Given the description of an element on the screen output the (x, y) to click on. 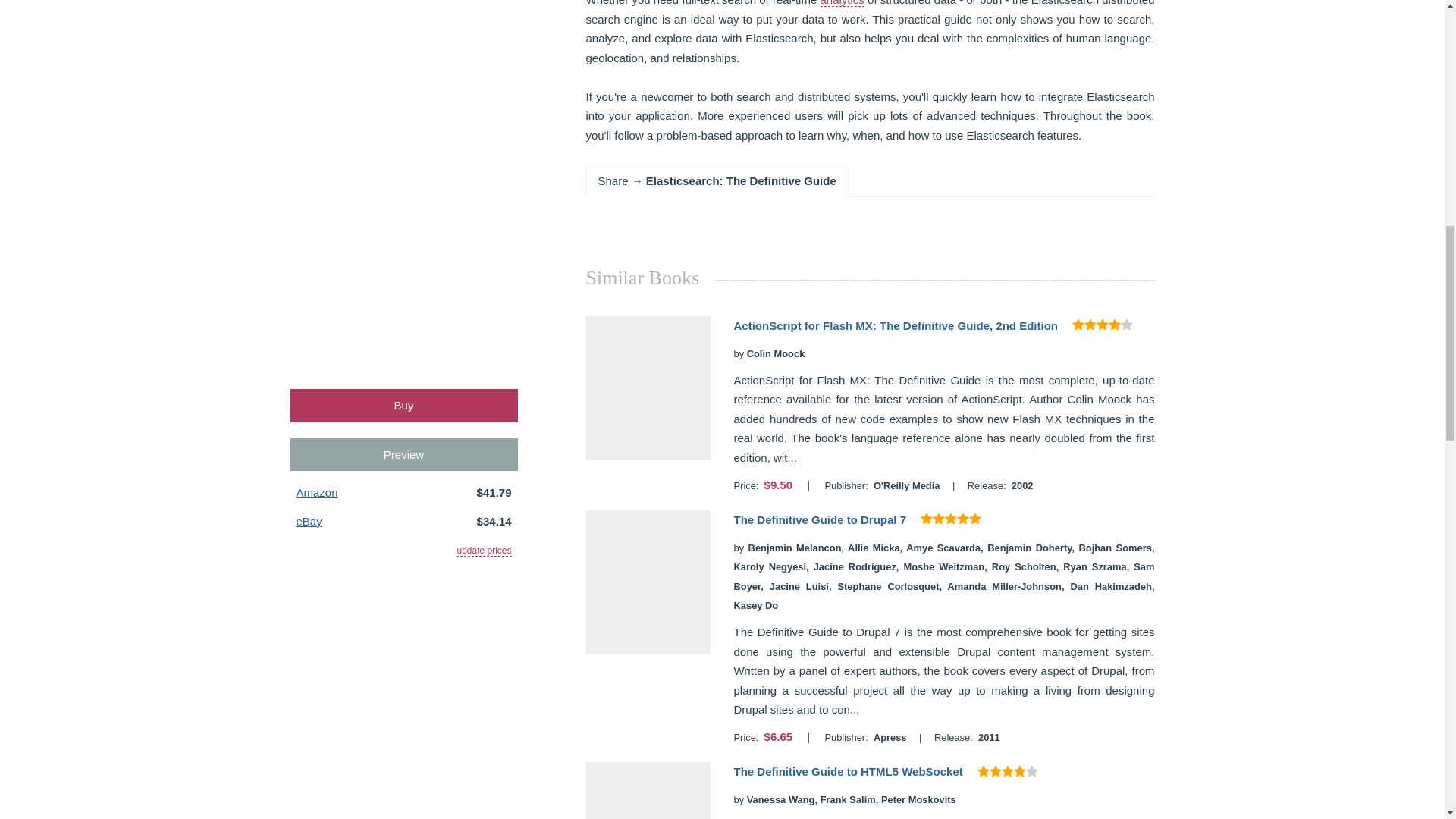
ActionScript for Flash MX: The Definitive Guide, 2nd Edition (895, 325)
The Definitive Guide to HTML5 WebSocket (847, 771)
Amazon (316, 492)
The Definitive Guide to Drupal 7 (819, 519)
Buy (402, 405)
analytics (842, 3)
Analytics Books (842, 3)
Preview (402, 454)
Buy (402, 405)
Preview (402, 454)
eBay (308, 521)
update prices (484, 550)
